Given the description of an element on the screen output the (x, y) to click on. 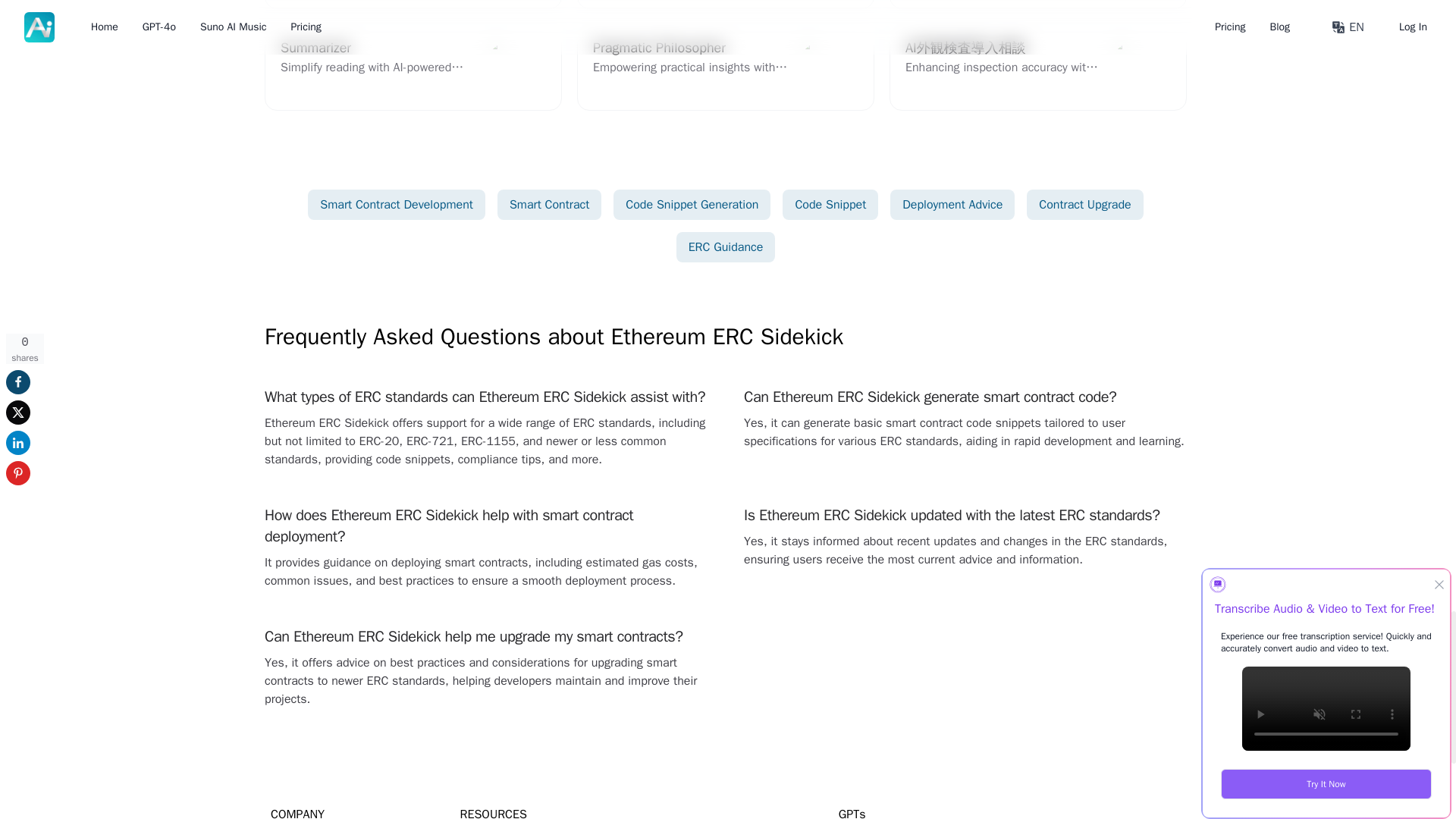
Gift Box GPT demo (413, 4)
Summarizer (1037, 4)
Pragmatic Philosopher (413, 67)
Arty Ward Smith (413, 67)
Smart Contract (725, 67)
Code Snippet Generation (725, 67)
Smart Contract Development (1037, 4)
Blog Tech-Bit (549, 204)
